Given the description of an element on the screen output the (x, y) to click on. 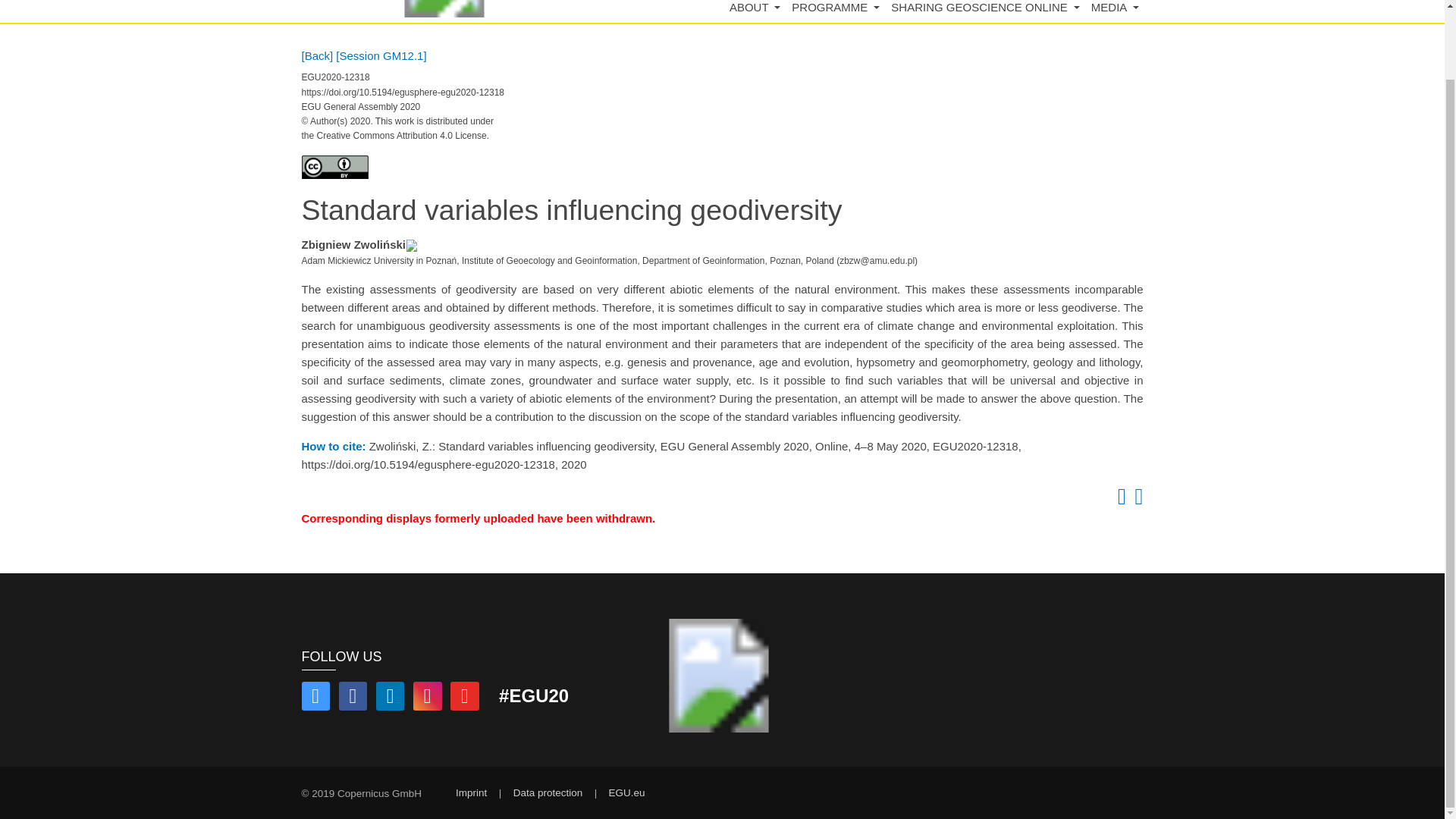
MEDIA (1114, 12)
Open QR code linking to abstract URL (1135, 499)
Find us on YouTube (464, 698)
SHARING GEOSCIENCE ONLINE (985, 12)
Follow us on Twitter (315, 698)
Copy to clipboard (1118, 499)
Find us on Instagram (427, 698)
PROGRAMME (835, 12)
Follow us on Facebook (353, 698)
ABOUT (754, 12)
